Given the description of an element on the screen output the (x, y) to click on. 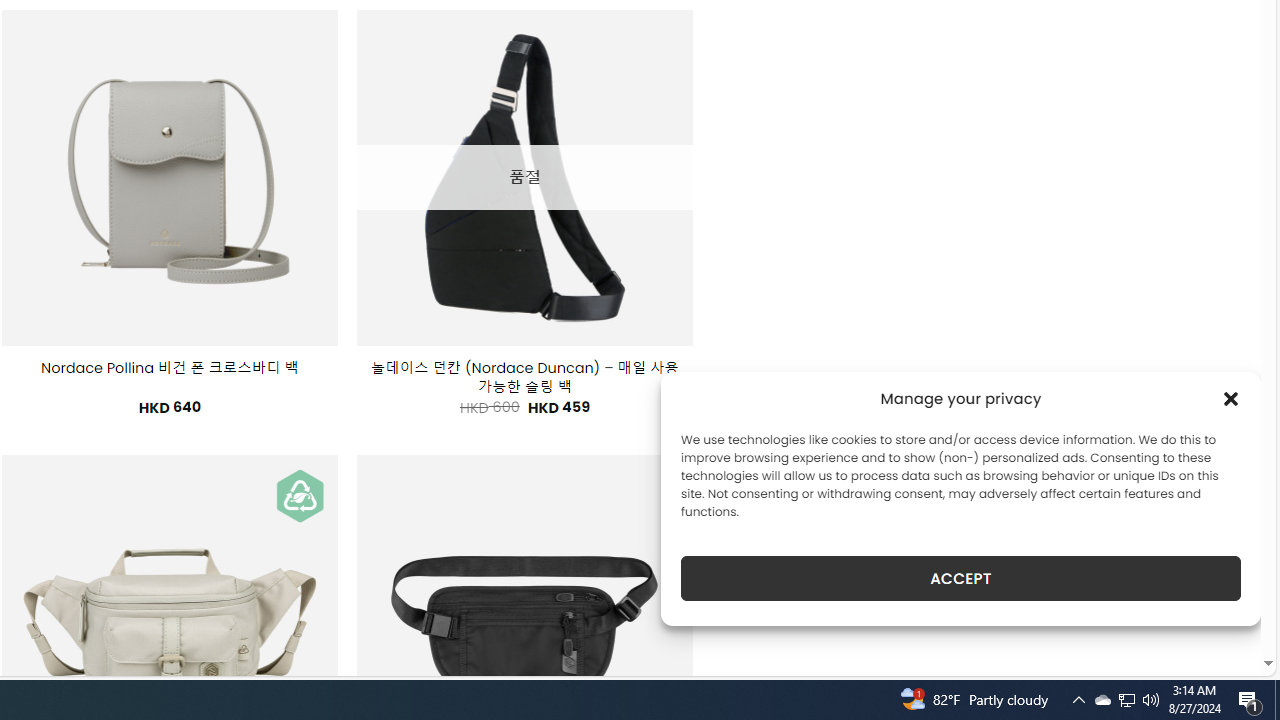
Class: cmplz-close (1231, 398)
ACCEPT (960, 578)
